Given the description of an element on the screen output the (x, y) to click on. 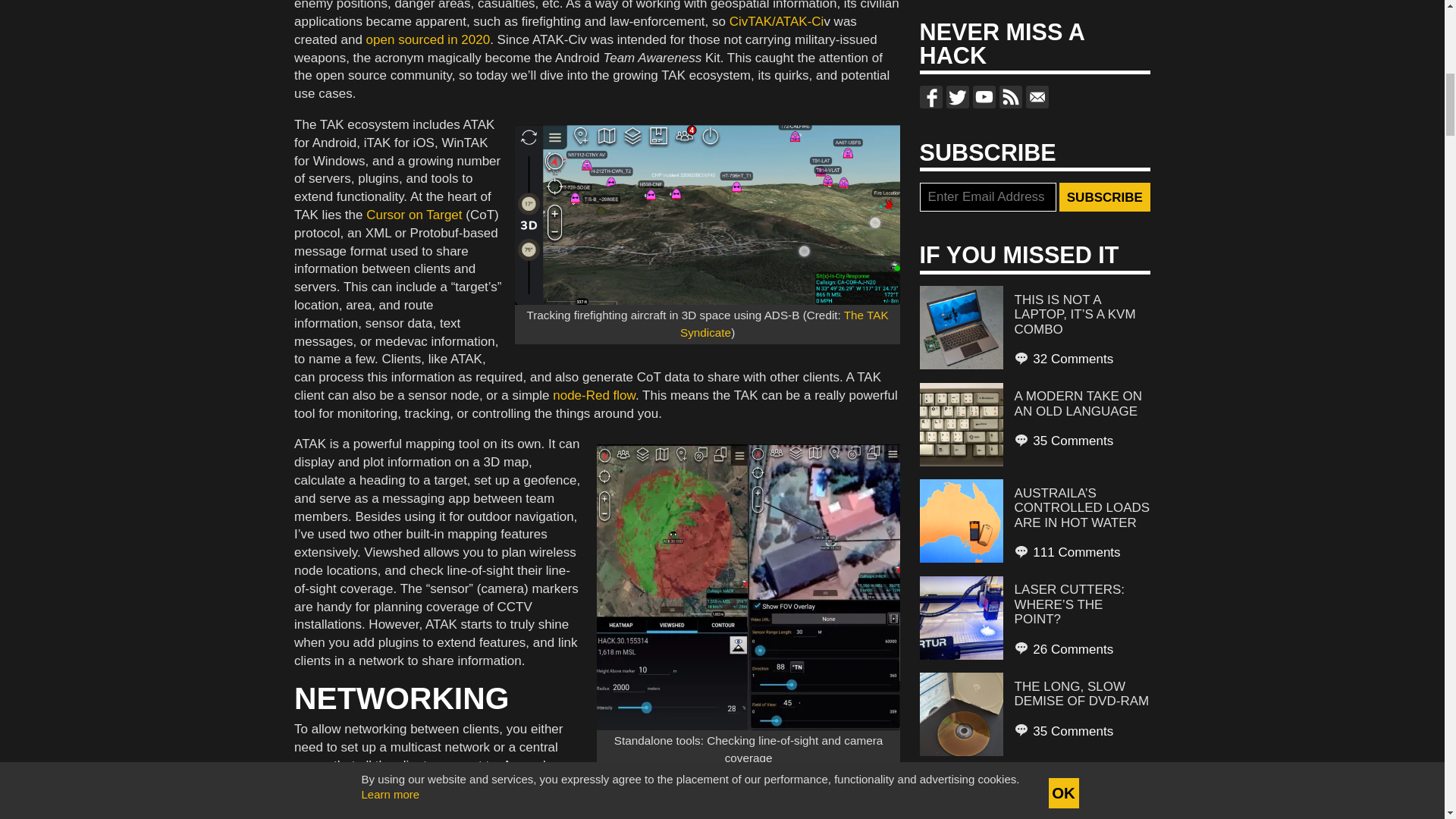
Cursor on Target (413, 214)
open sourced in 2020 (428, 39)
a free ZeroTier VPN (431, 792)
The TAK Syndicate (783, 323)
Subscribe (1104, 196)
node-Red flow (593, 395)
